Given the description of an element on the screen output the (x, y) to click on. 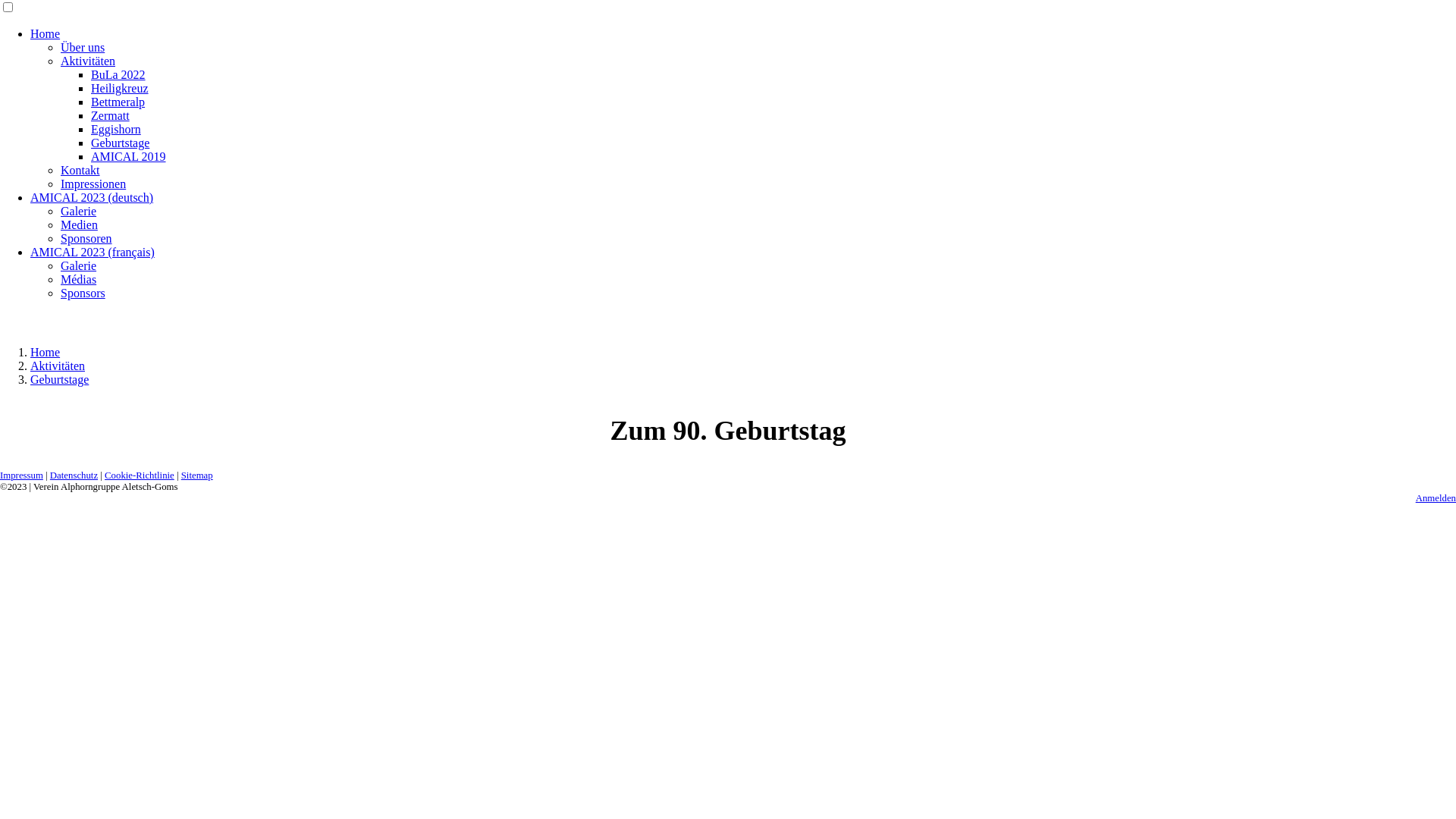
Sitemap Element type: text (197, 475)
Zermatt Element type: text (110, 115)
Datenschutz Element type: text (73, 475)
AMICAL 2023 (deutsch) Element type: text (91, 197)
Galerie Element type: text (78, 210)
Home Element type: text (44, 351)
BuLa 2022 Element type: text (118, 74)
Heiligkreuz Element type: text (119, 87)
Geburtstage Element type: text (120, 142)
Sponsoren Element type: text (86, 238)
Impressionen Element type: text (92, 183)
Bettmeralp Element type: text (117, 101)
Geburtstage Element type: text (59, 379)
AMICAL 2019 Element type: text (128, 156)
Home Element type: text (44, 33)
Galerie Element type: text (78, 265)
Cookie-Richtlinie Element type: text (139, 475)
Sponsors Element type: text (82, 292)
Medien Element type: text (78, 224)
Impressum Element type: text (21, 475)
Eggishorn Element type: text (116, 128)
Kontakt Element type: text (80, 169)
